Given the description of an element on the screen output the (x, y) to click on. 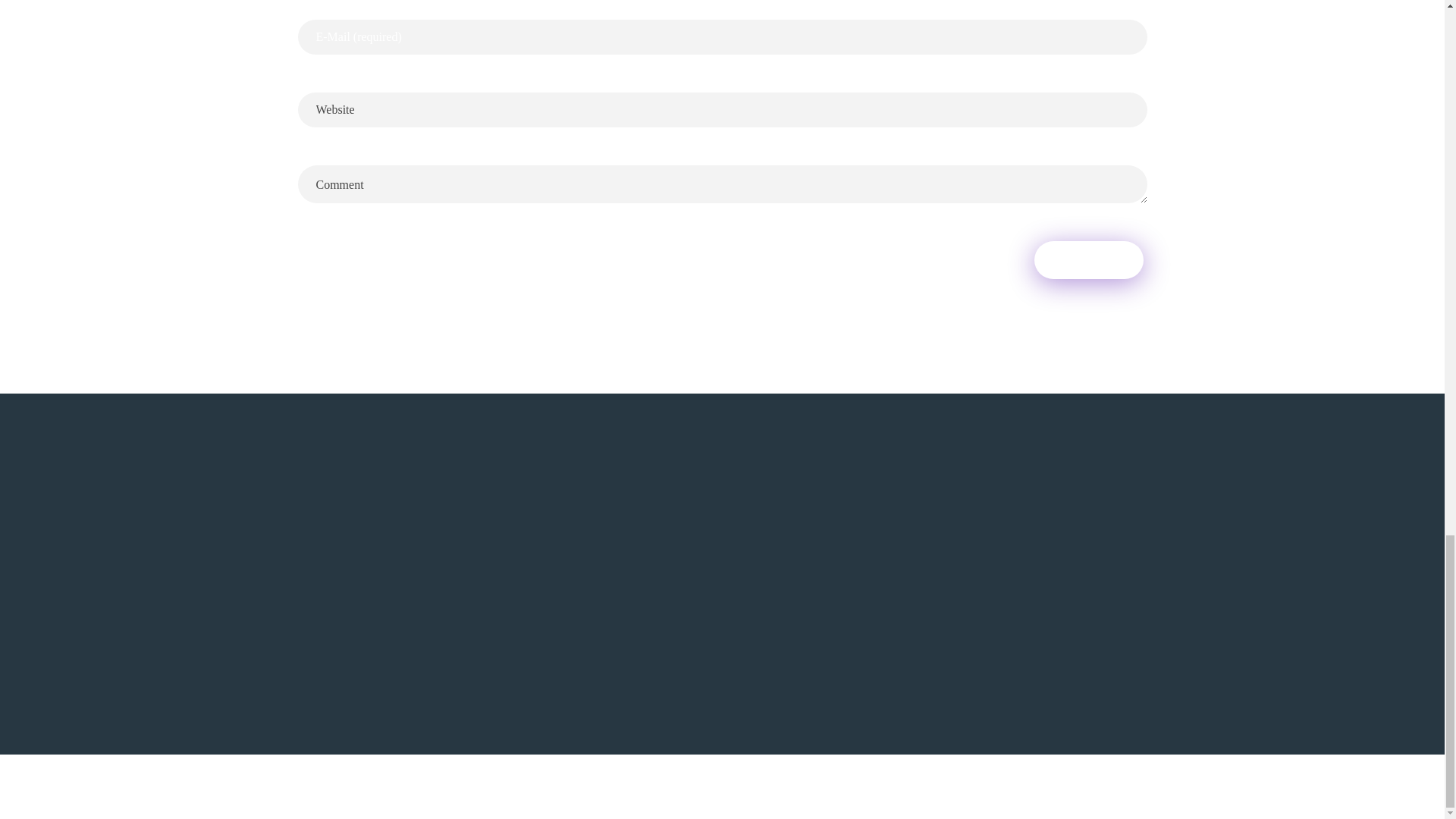
Submit (1087, 259)
Submit (1087, 259)
